Given the description of an element on the screen output the (x, y) to click on. 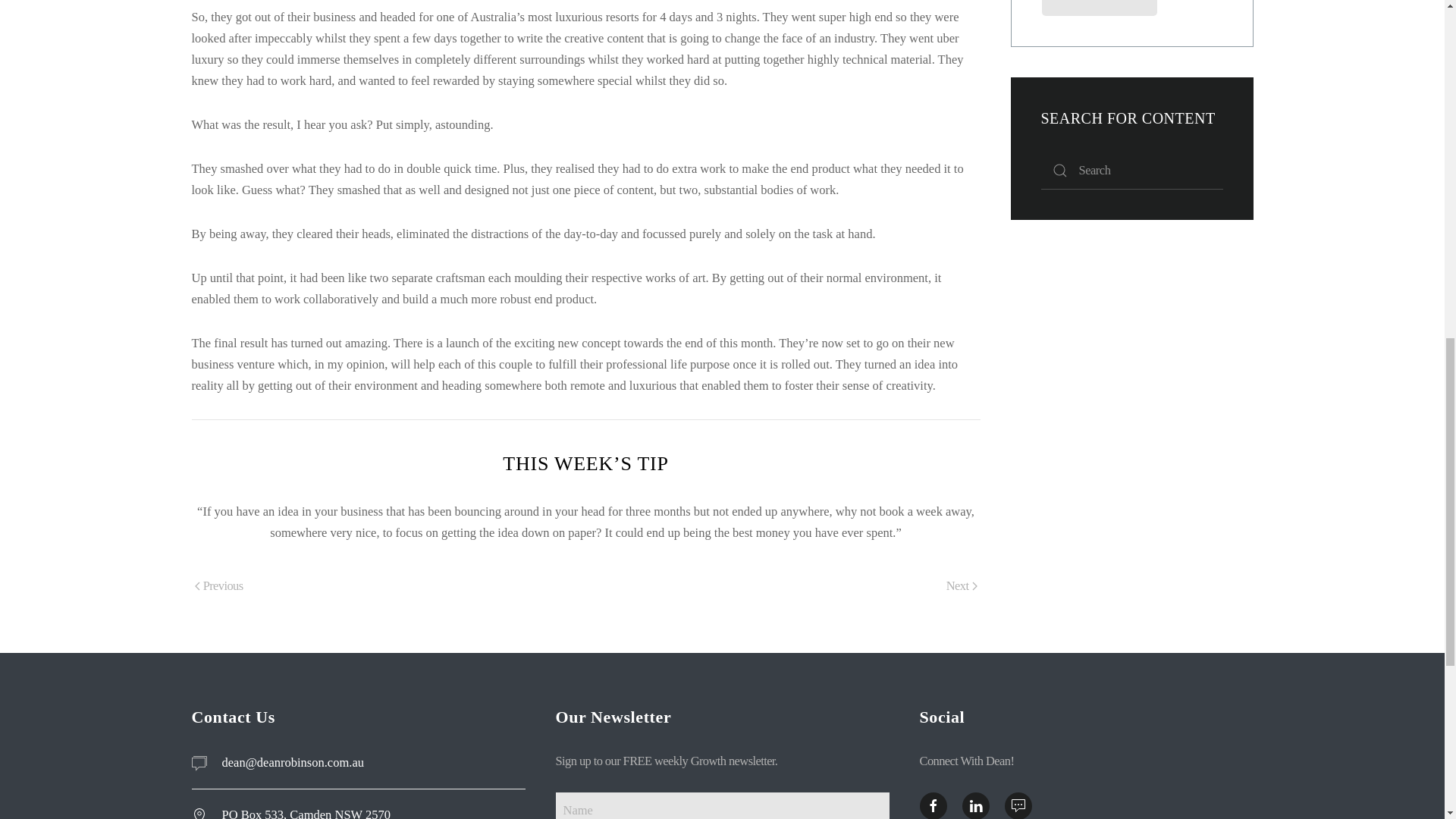
Submit (1099, 7)
